Given the description of an element on the screen output the (x, y) to click on. 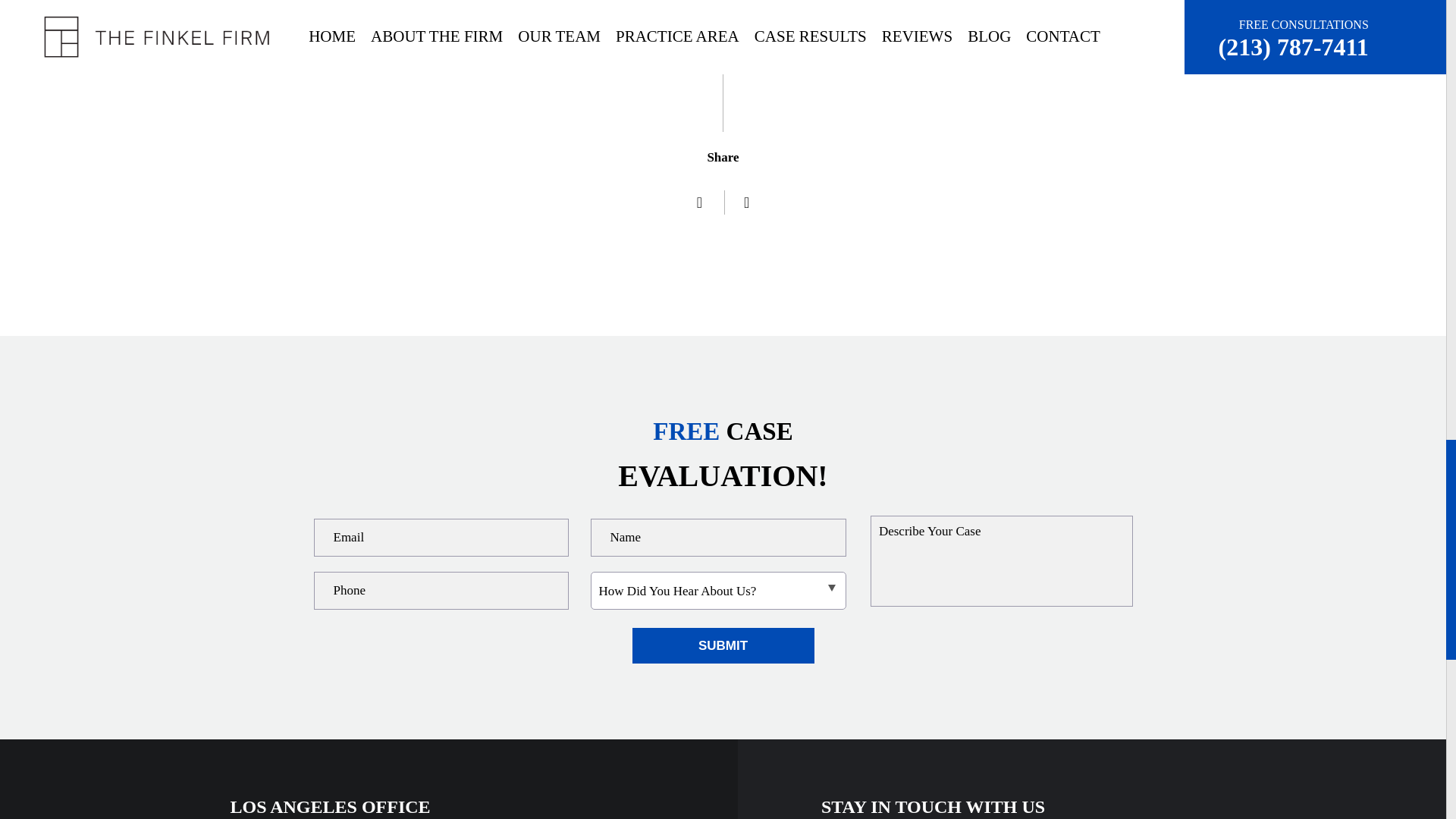
SUBMIT (722, 645)
SUBMIT (722, 645)
